Given the description of an element on the screen output the (x, y) to click on. 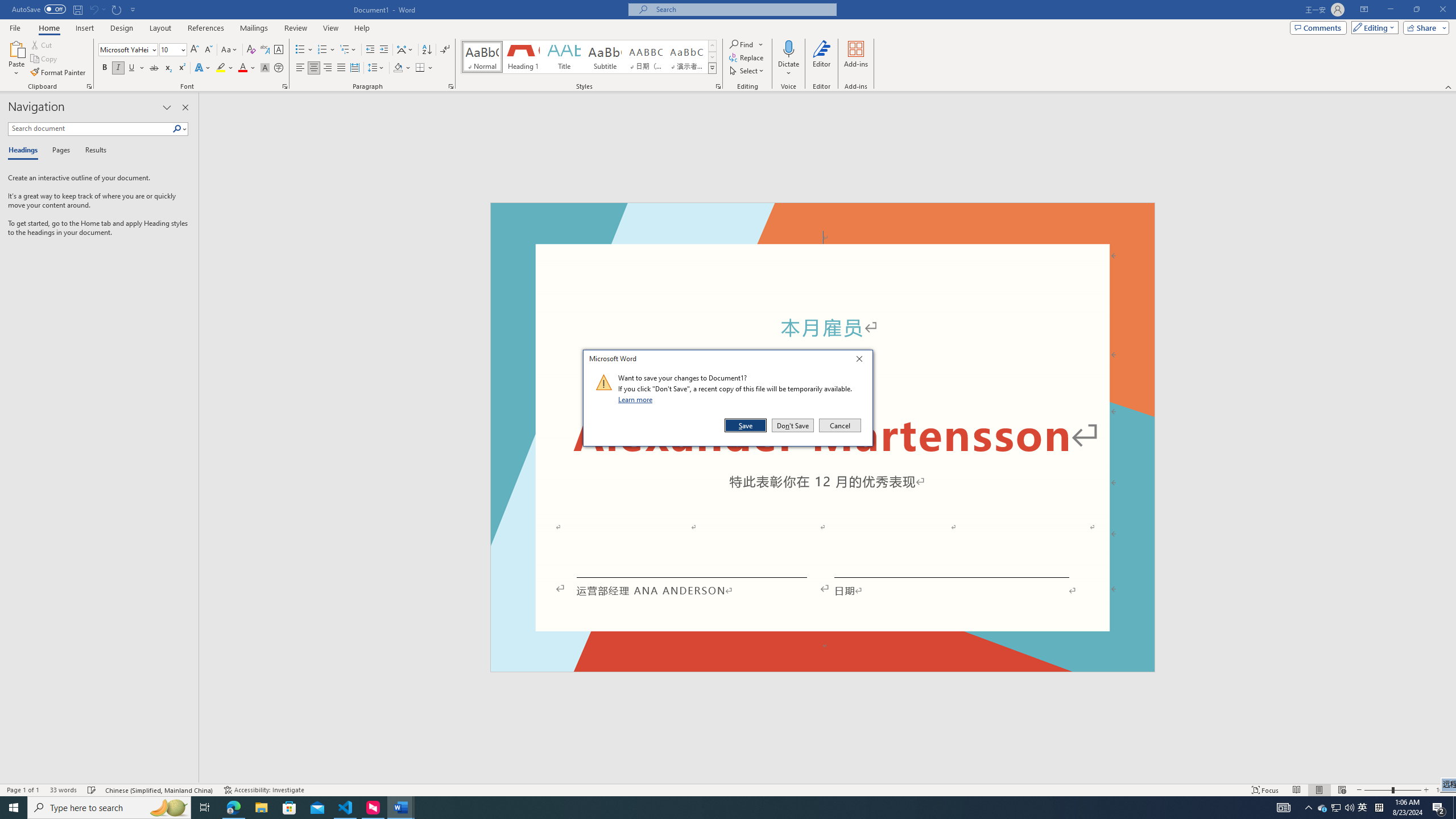
AutomationID: 4105 (1283, 807)
Headings (25, 150)
Repeat Italic (117, 9)
Office Clipboard... (88, 85)
Visual Studio Code - 1 running window (345, 807)
Row Down (711, 56)
Text Effects and Typography (202, 67)
